Given the description of an element on the screen output the (x, y) to click on. 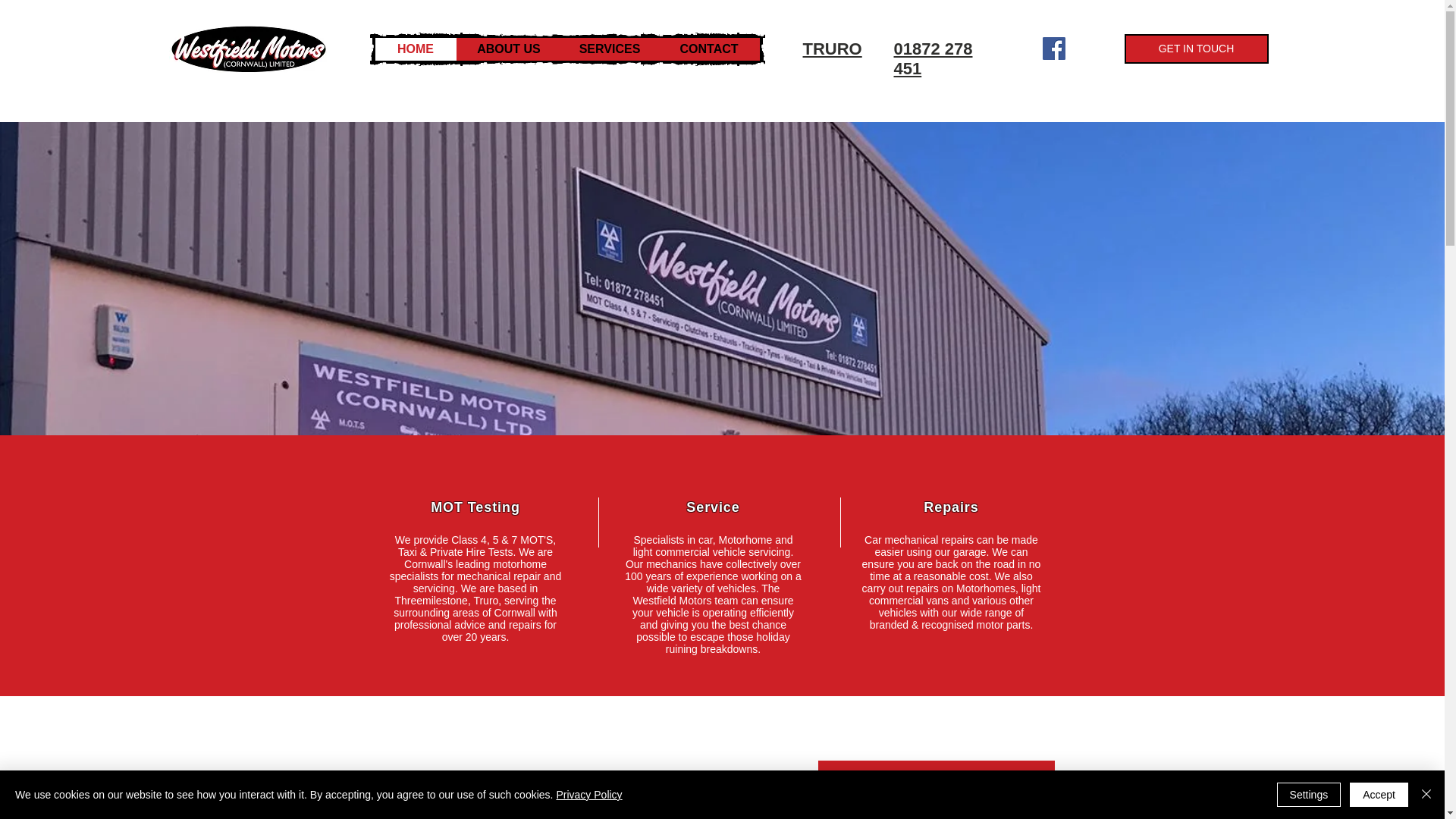
GET IN TOUCH (1196, 48)
Settings (1308, 794)
BOOK YOUR CAR (935, 779)
HOME (414, 48)
Accept (1378, 794)
Privacy Policy (588, 794)
CONTACT (709, 48)
ABOUT US (508, 48)
SERVICES (609, 48)
